Given the description of an element on the screen output the (x, y) to click on. 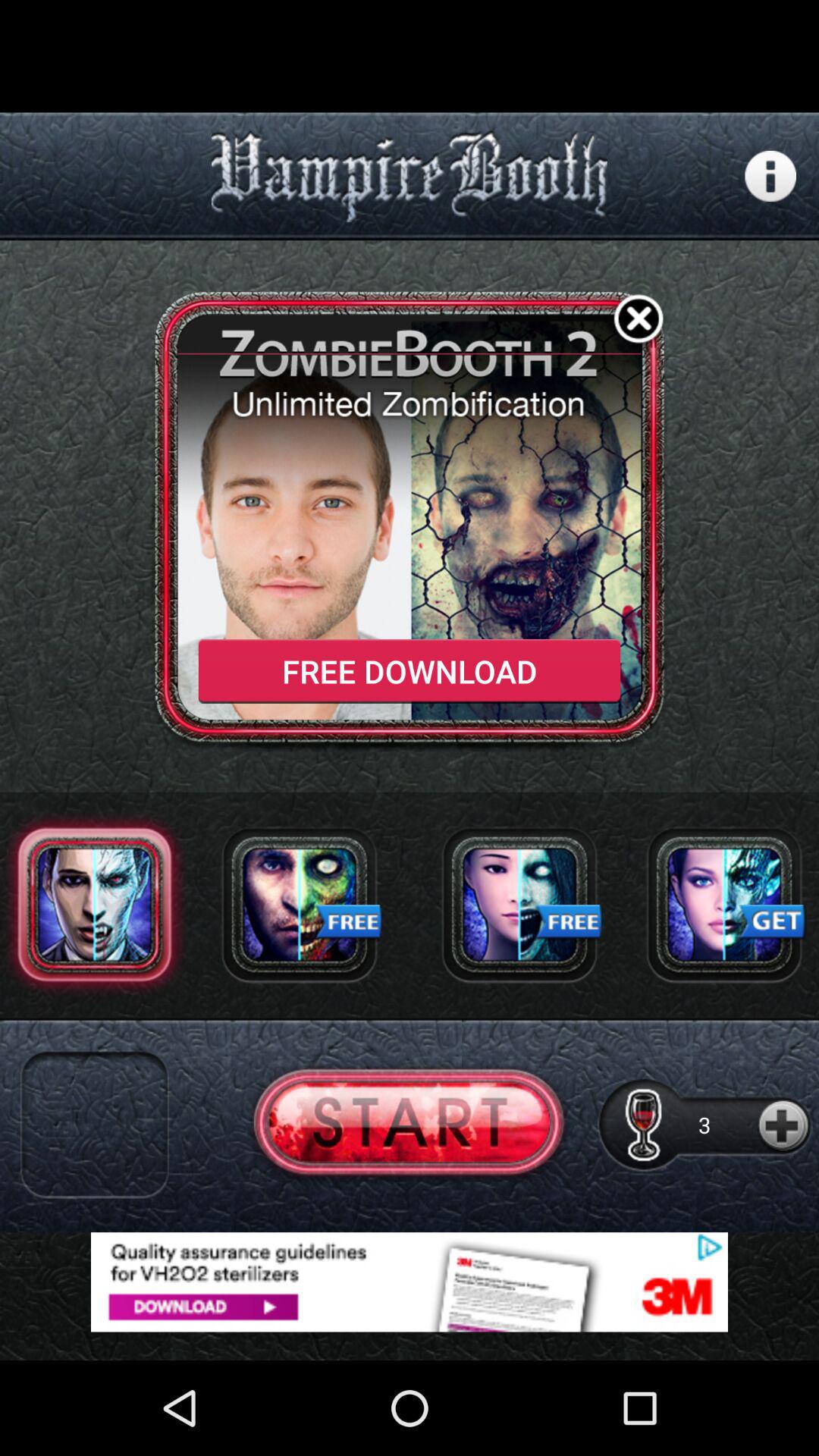
choose of the sports man (519, 904)
